Given the description of an element on the screen output the (x, y) to click on. 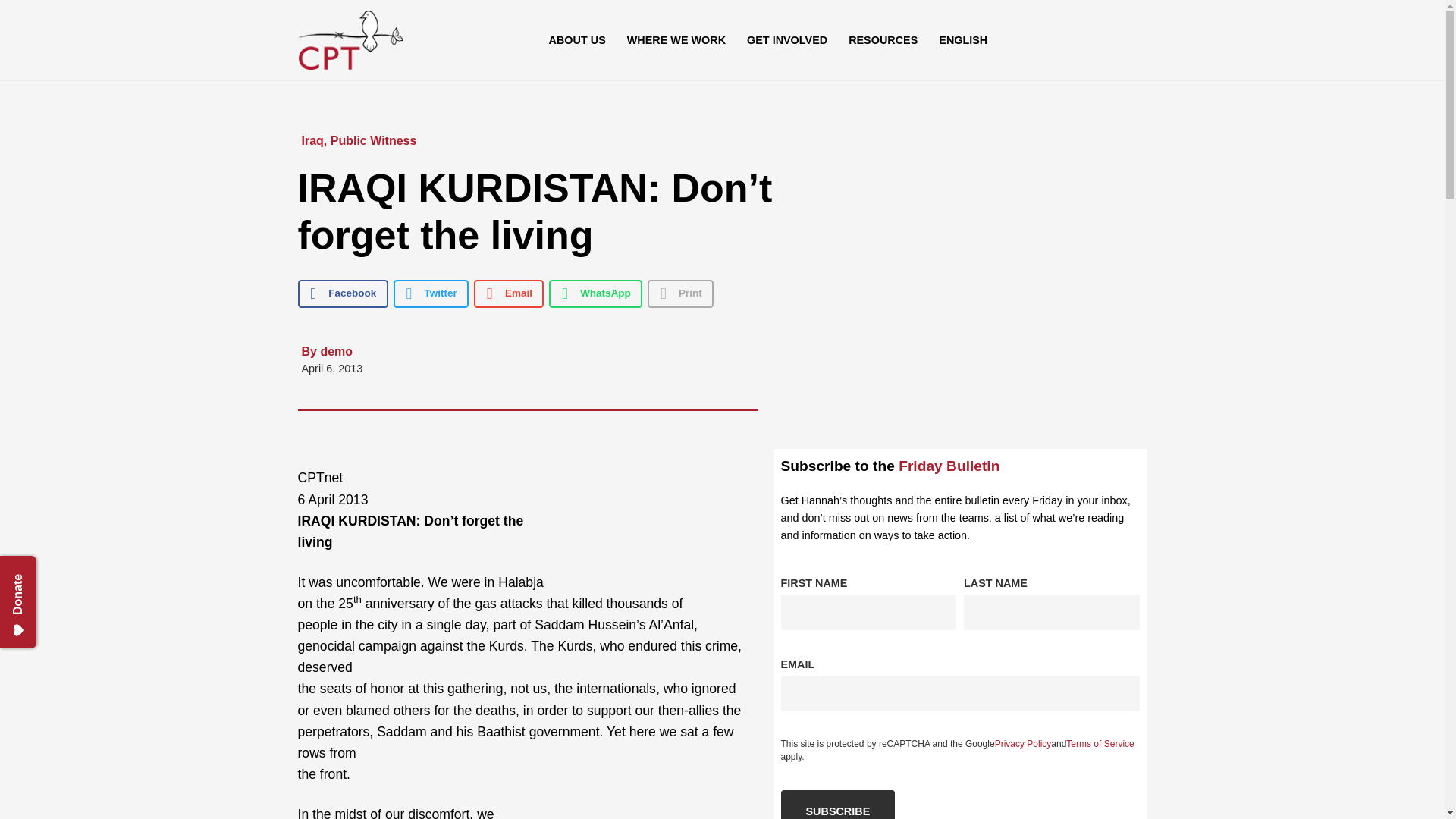
ENGLISH (962, 39)
English (962, 39)
Persistent Donate Button (49, 572)
WHERE WE WORK (675, 39)
GET INVOLVED (787, 39)
ABOUT US (576, 39)
RESOURCES (883, 39)
